Given the description of an element on the screen output the (x, y) to click on. 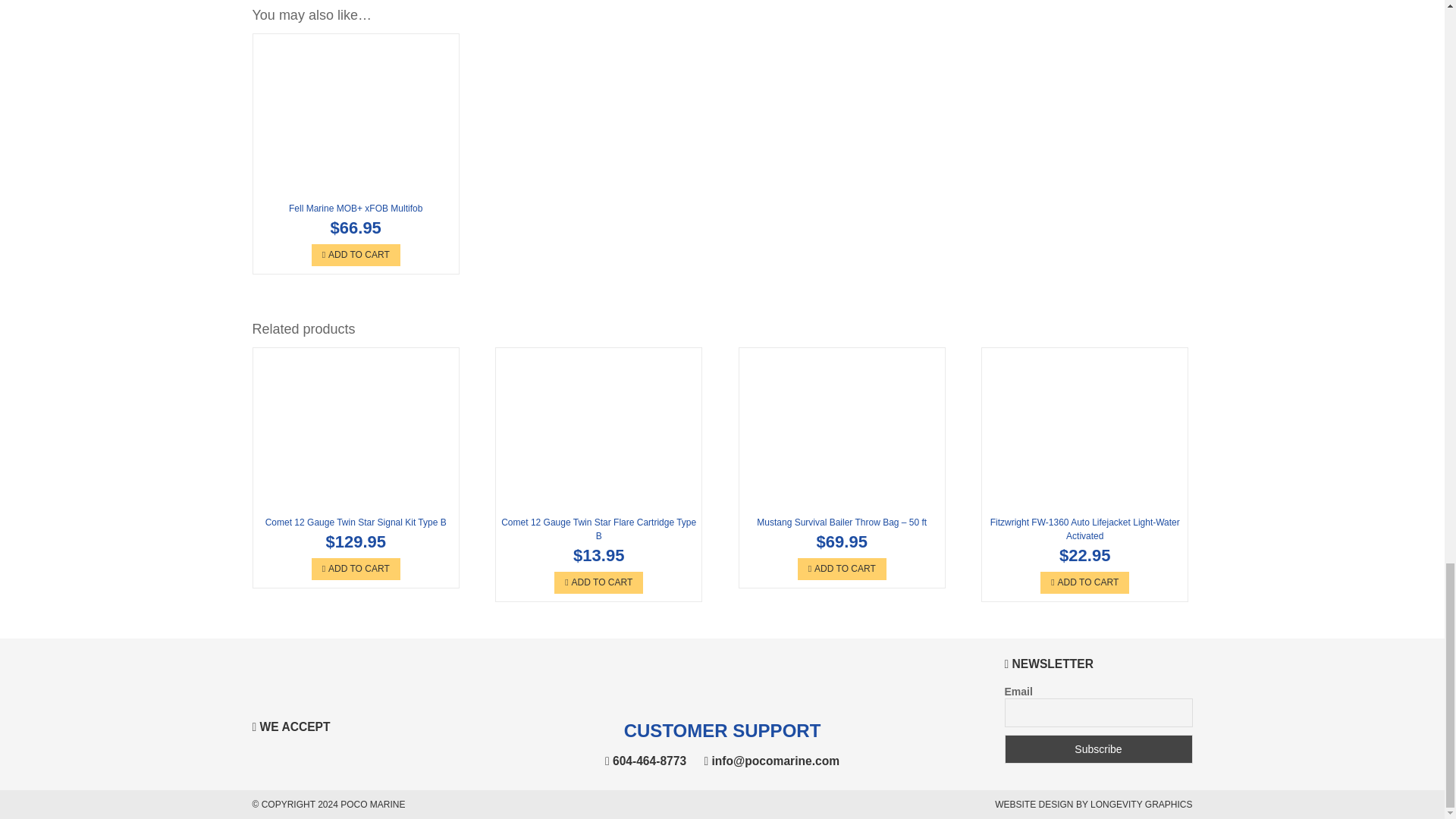
Subscribe (1098, 748)
